Given the description of an element on the screen output the (x, y) to click on. 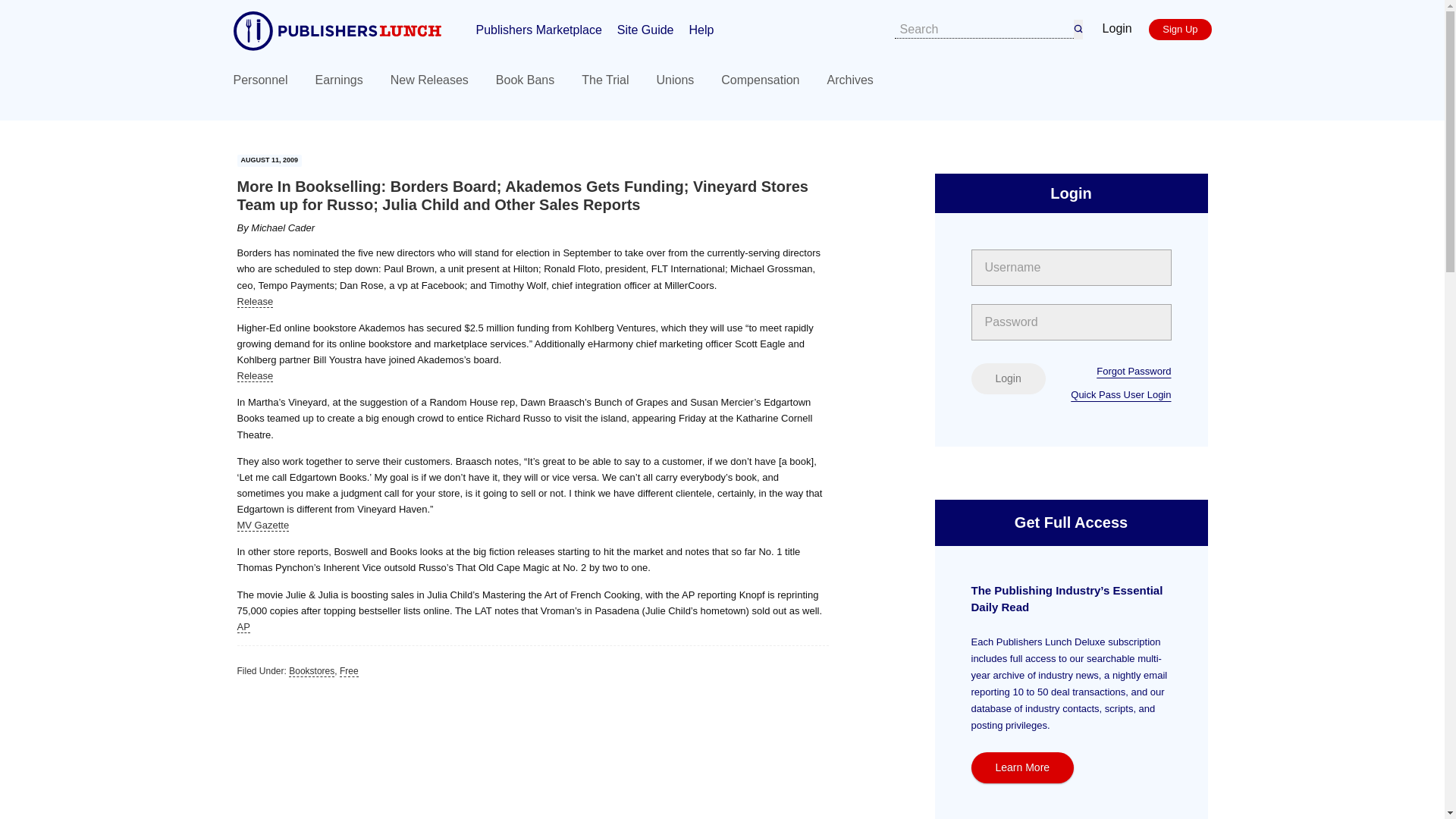
Quick Pass User Login (1120, 394)
Publishers Marketplace (539, 29)
New Releases (429, 79)
Learn More (1022, 767)
MV Gazette (261, 525)
Personnel (260, 79)
Site Guide (645, 29)
Free (348, 671)
Release (254, 301)
Unions (675, 79)
Bookstores (311, 671)
Earnings (338, 79)
Help (701, 29)
Compensation (759, 79)
Login (1008, 378)
